Given the description of an element on the screen output the (x, y) to click on. 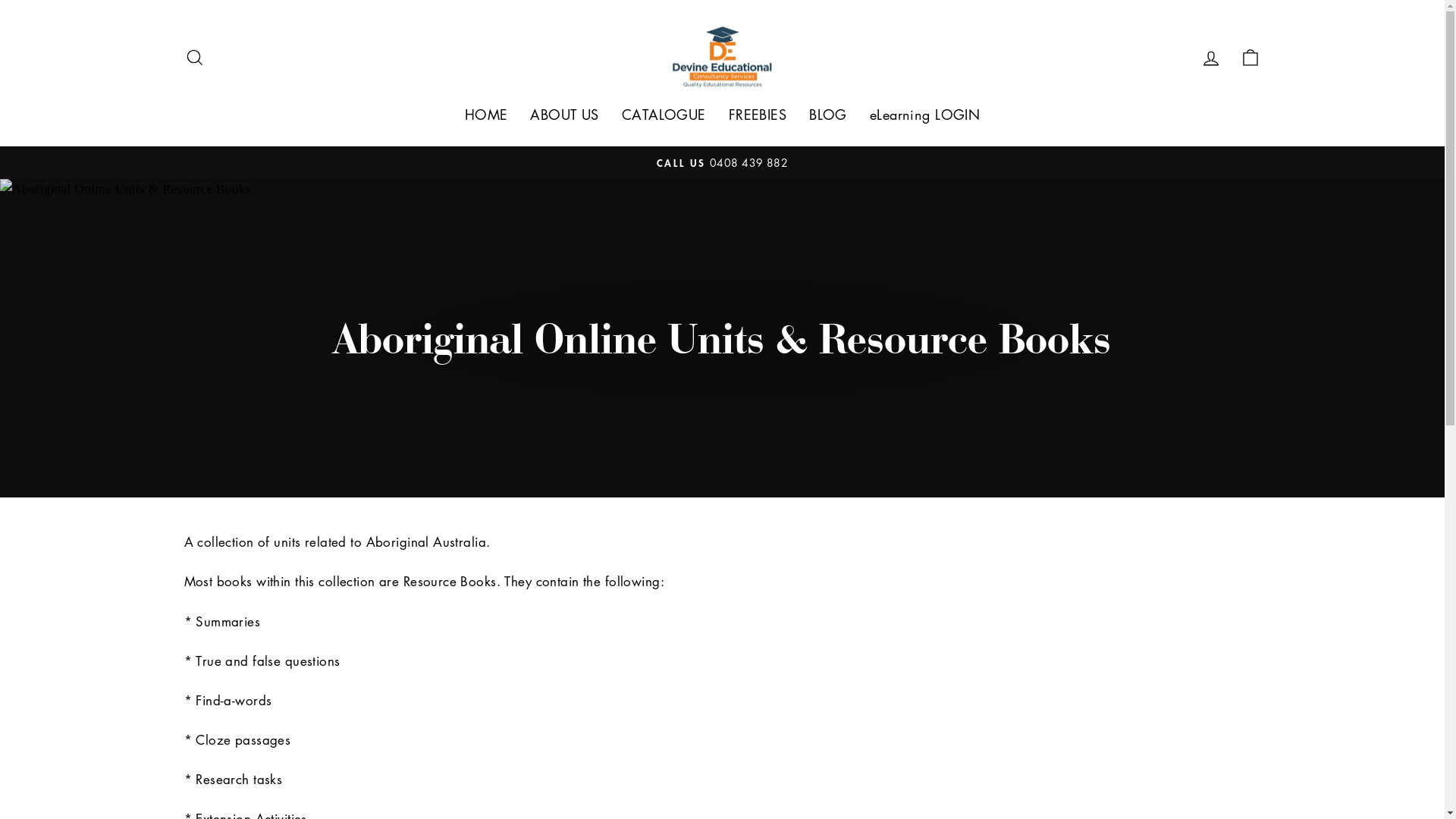
icon-search
Search Element type: text (193, 56)
account
Log in Element type: text (1210, 56)
icon-bag-minimal
Cart Element type: text (1249, 56)
BLOG Element type: text (827, 114)
ABOUT US Element type: text (563, 114)
HOME Element type: text (486, 114)
FREEBIES Element type: text (757, 114)
eLearning LOGIN Element type: text (924, 114)
CATALOGUE Element type: text (663, 114)
